Given the description of an element on the screen output the (x, y) to click on. 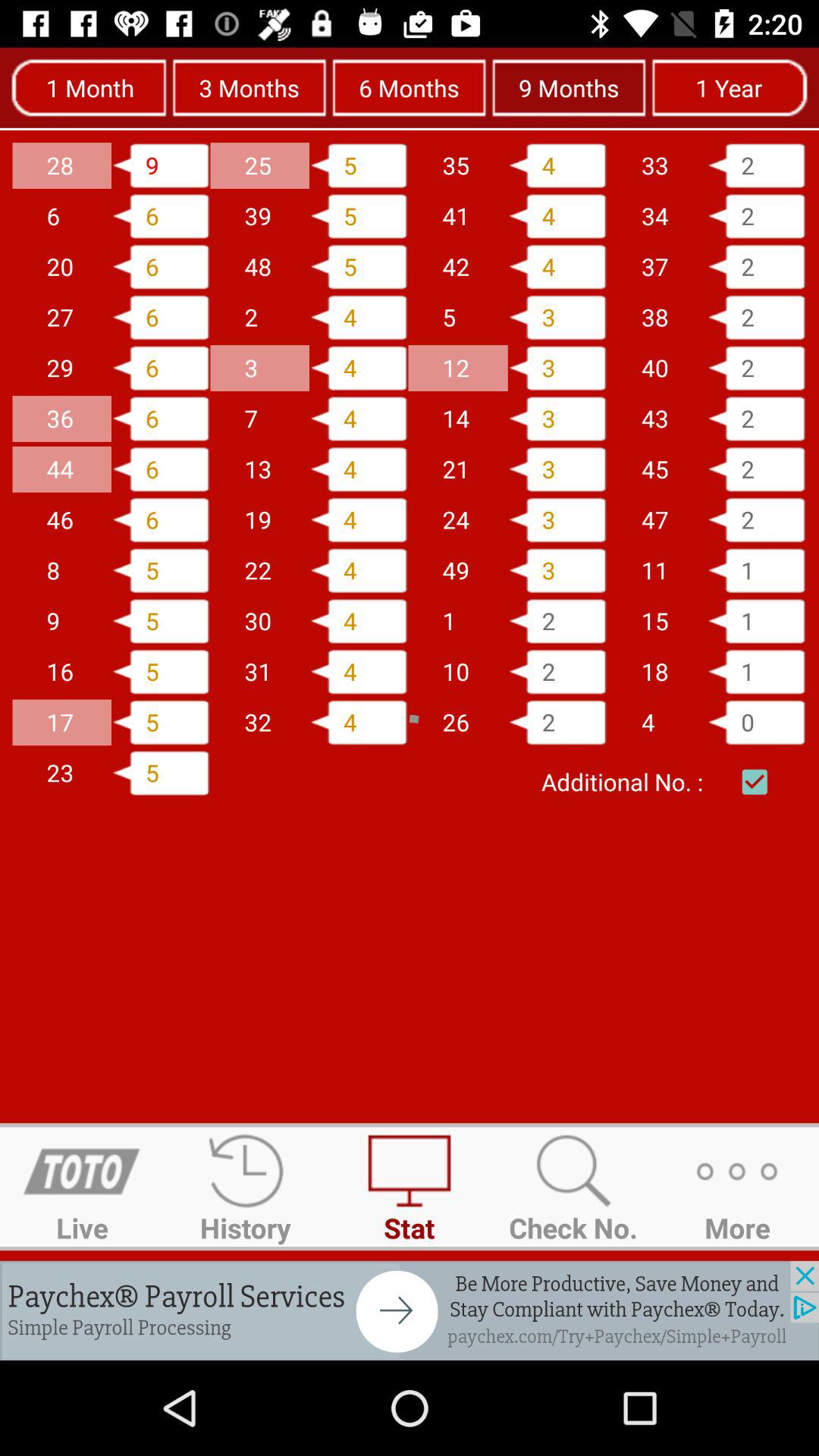
additionalno (754, 781)
